Given the description of an element on the screen output the (x, y) to click on. 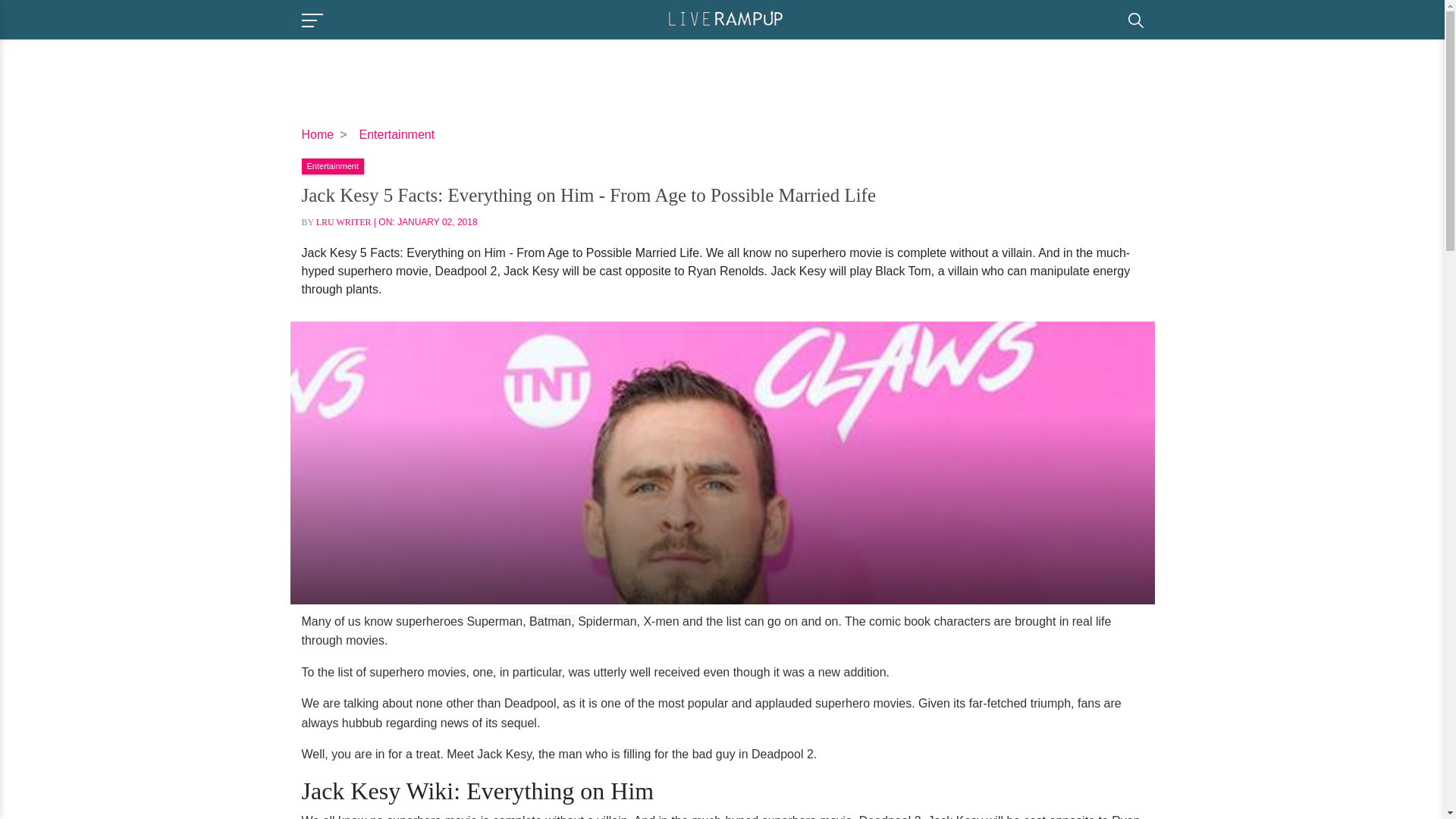
Entertainment (332, 164)
LRU WRITER (343, 222)
Liverampup (725, 17)
Home (317, 133)
Entertainment (397, 133)
